Given the description of an element on the screen output the (x, y) to click on. 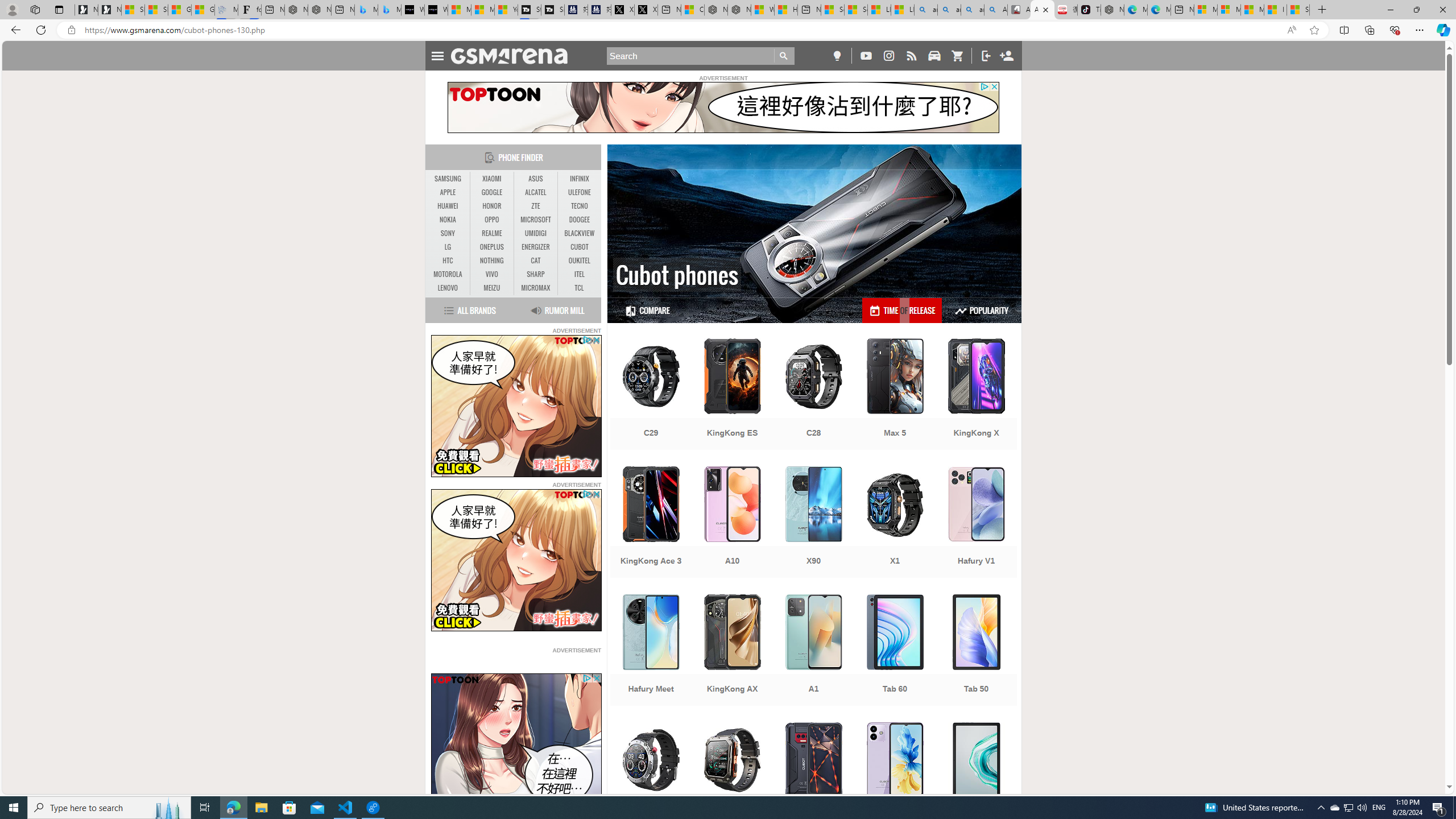
XIAOMI (491, 178)
ALCATEL (535, 192)
SONY (448, 233)
LENOVO (448, 287)
SAMSUNG (448, 178)
VIVO (491, 273)
TECNO (579, 206)
Hafury V1 (976, 523)
ULEFONE (579, 192)
REALME (491, 233)
ZTE (535, 205)
